Given the description of an element on the screen output the (x, y) to click on. 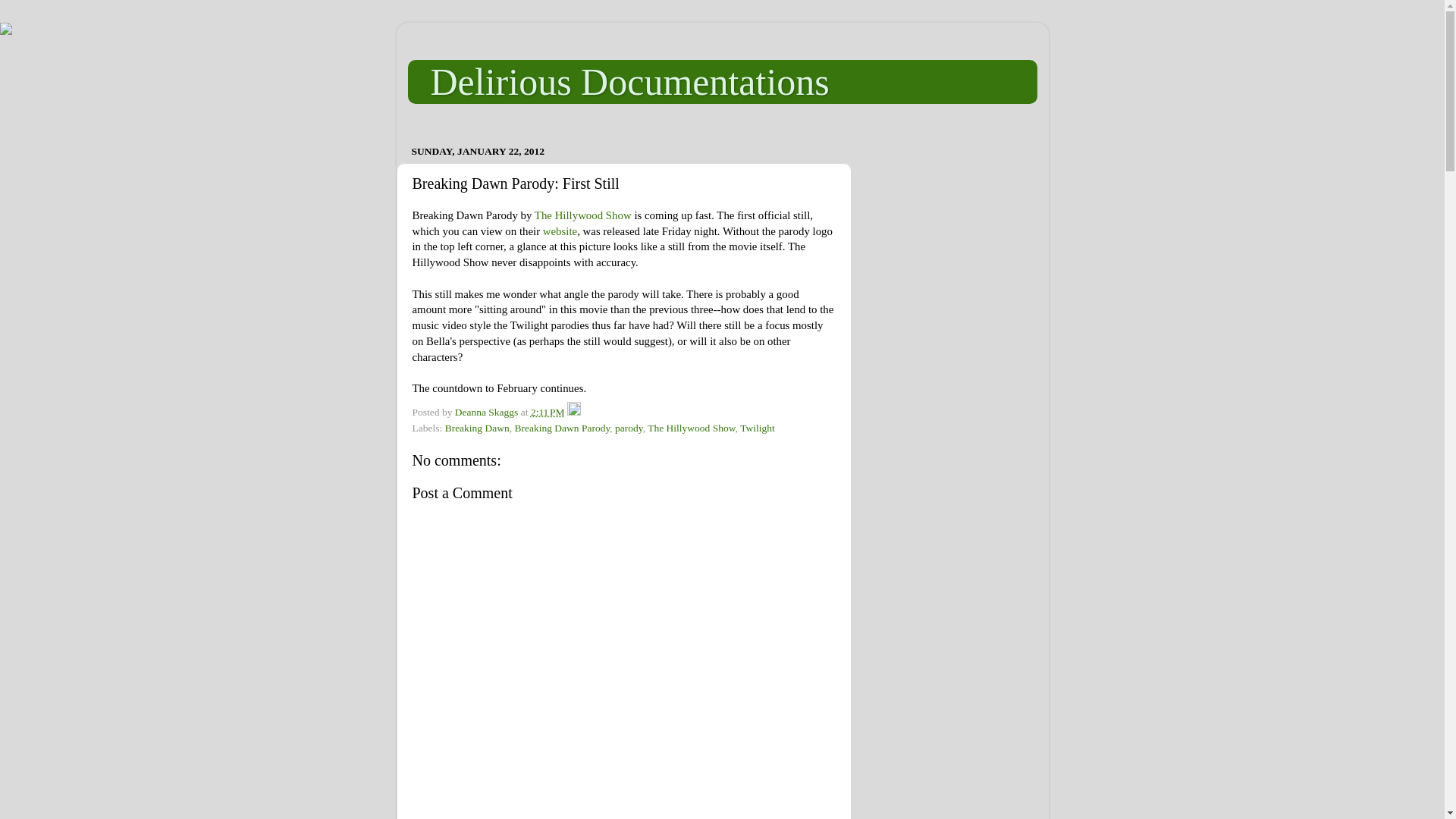
parody (628, 428)
permanent link (547, 411)
author profile (487, 411)
The Hillywood Show (691, 428)
The Hillywood Show (582, 215)
Twilight (756, 428)
Breaking Dawn Parody (561, 428)
Delirious Documentations (629, 81)
Edit Post (573, 411)
website (559, 231)
Breaking Dawn (477, 428)
Deanna Skaggs (487, 411)
